Given the description of an element on the screen output the (x, y) to click on. 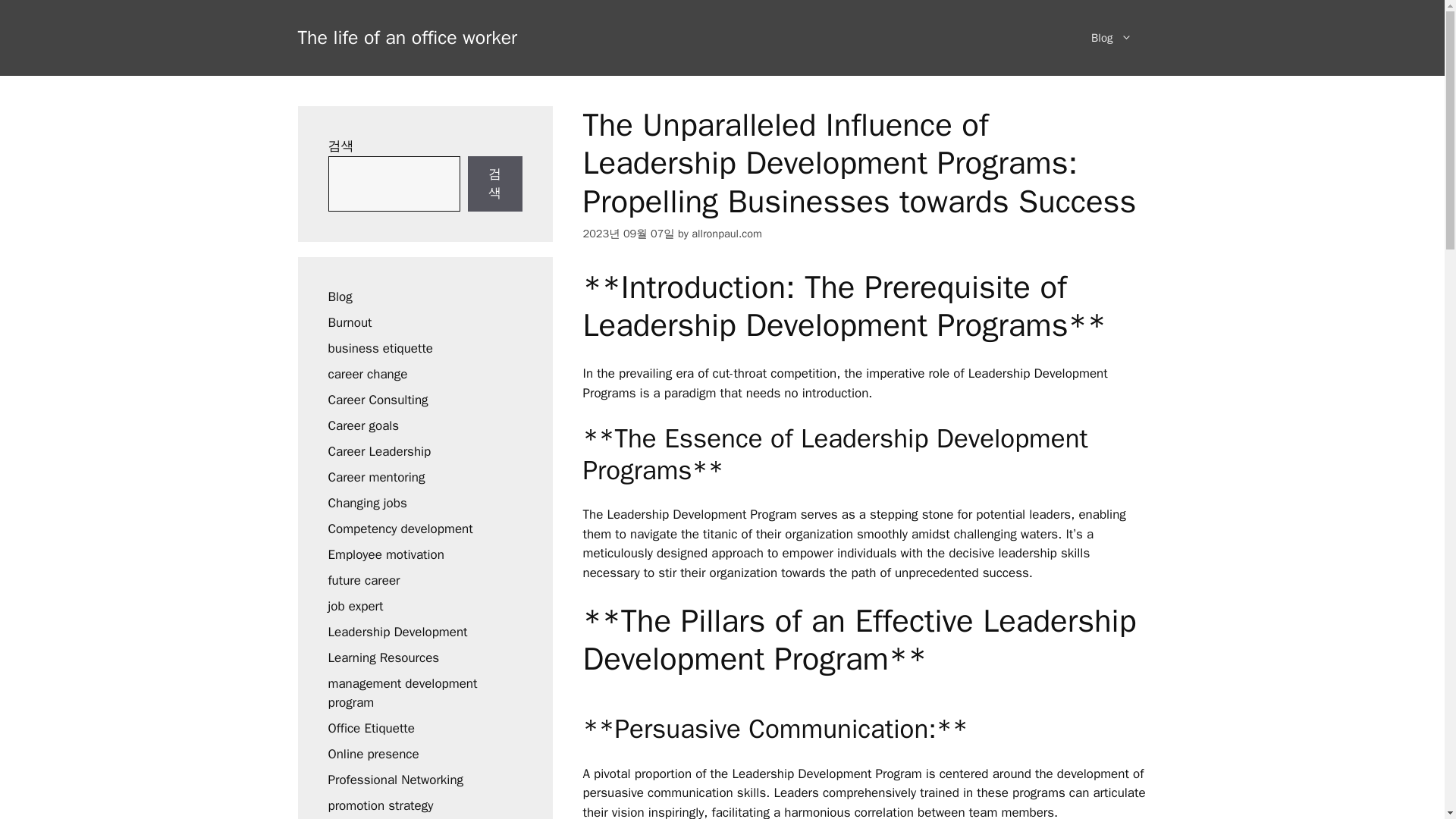
Blog (1111, 37)
Blog (339, 295)
Burnout (349, 321)
career change (367, 373)
Career Leadership (378, 450)
management development program (402, 692)
job expert (354, 605)
Learning Resources (383, 657)
Leadership Development (397, 631)
business etiquette (379, 347)
